Given the description of an element on the screen output the (x, y) to click on. 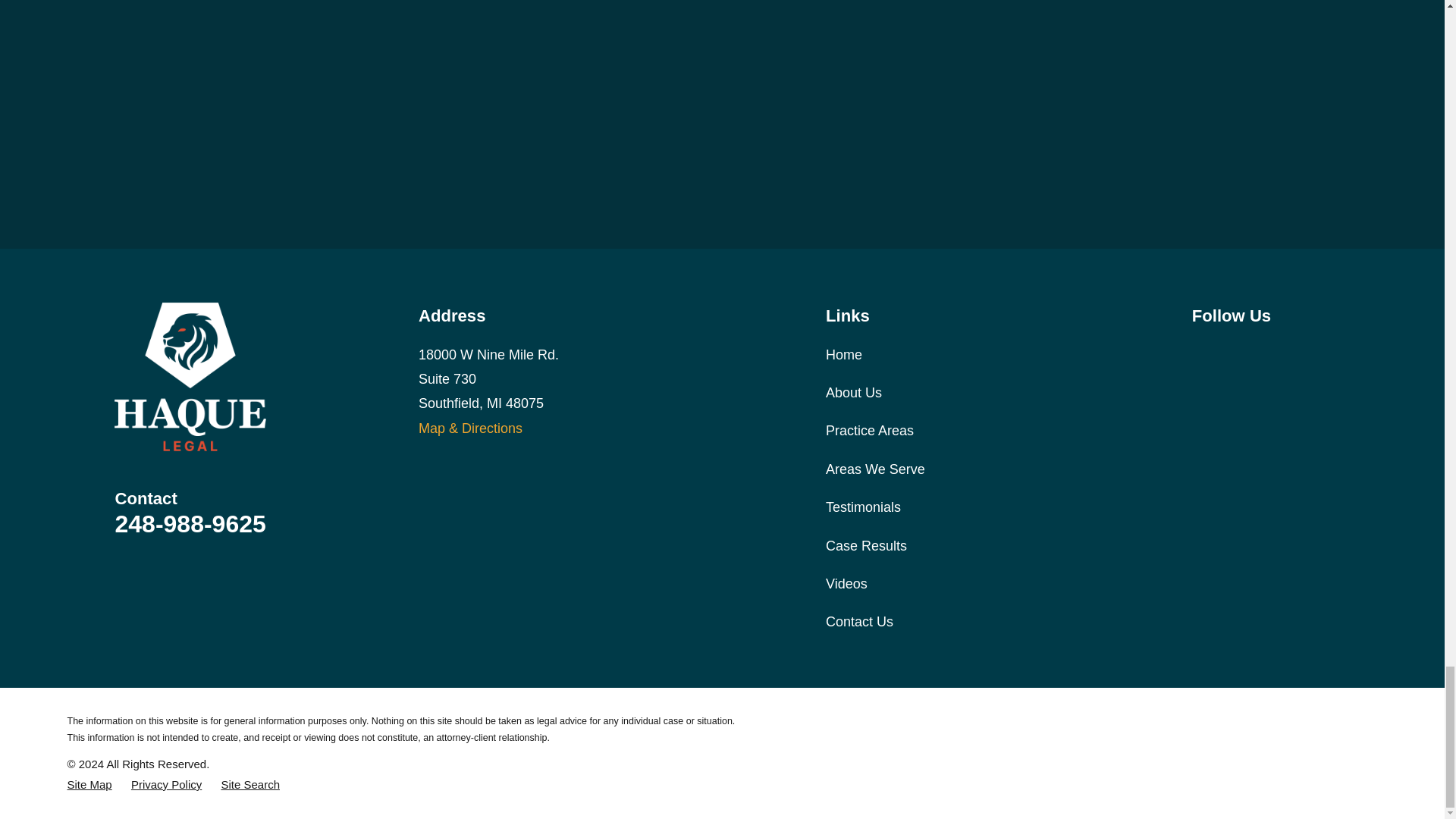
Instagram (1240, 352)
Facebook (1201, 352)
YouTube (1280, 352)
LinkedIn (1319, 352)
Home (190, 377)
